Given the description of an element on the screen output the (x, y) to click on. 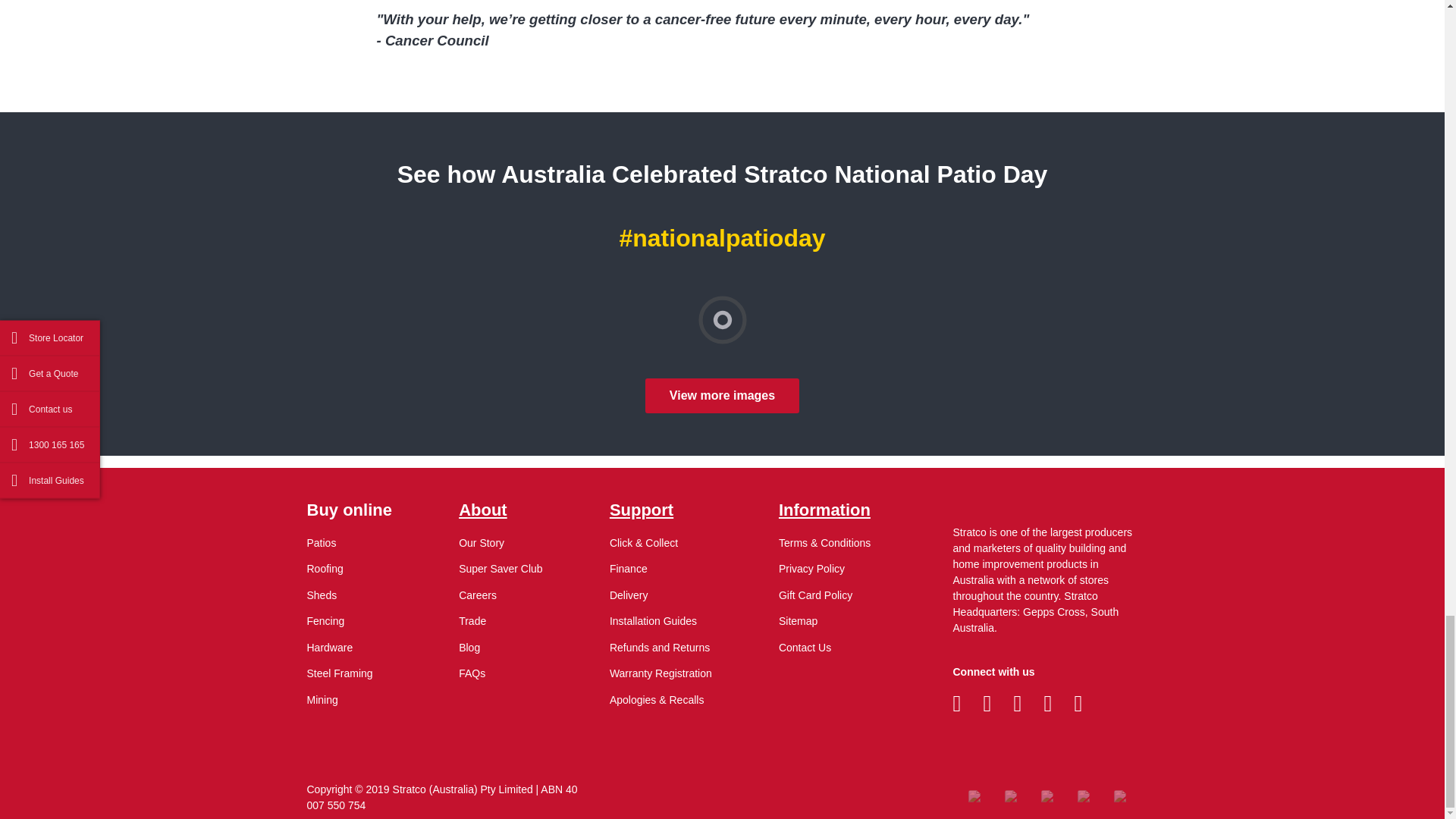
Patios (320, 542)
Mining (321, 699)
Steel Framing (338, 673)
Hardware (328, 647)
